Given the description of an element on the screen output the (x, y) to click on. 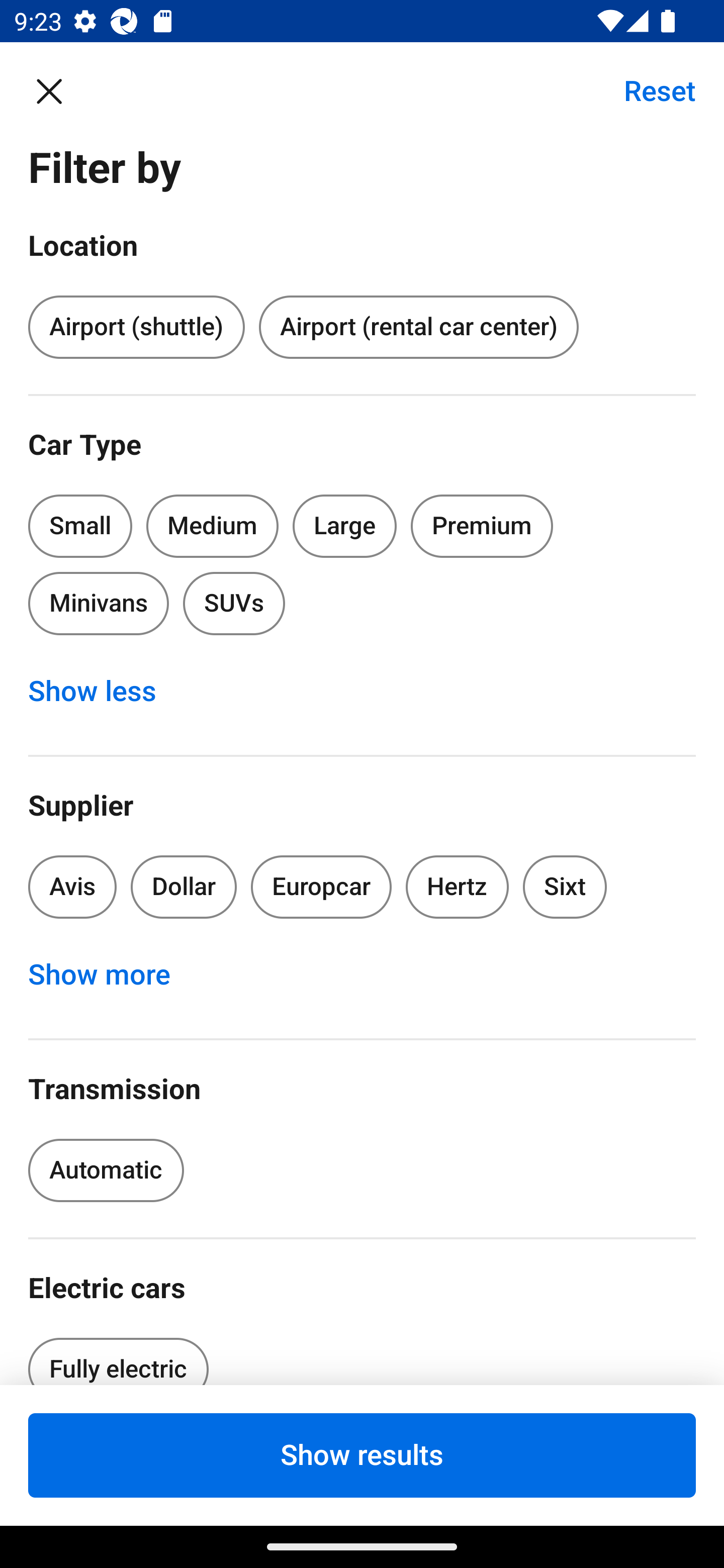
Close (59, 90)
Reset (649, 90)
Airport (shuttle) (136, 327)
Airport (rental car center) (418, 327)
Small (80, 525)
Medium (212, 525)
Large (344, 525)
Premium (482, 525)
Minivans (98, 603)
SUVs (233, 603)
Show less (102, 691)
Avis (72, 887)
Dollar (183, 887)
Europcar (321, 887)
Hertz (457, 887)
Sixt (564, 887)
Show more (109, 974)
Automatic (105, 1170)
Fully electric (118, 1355)
Show results (361, 1454)
